Given the description of an element on the screen output the (x, y) to click on. 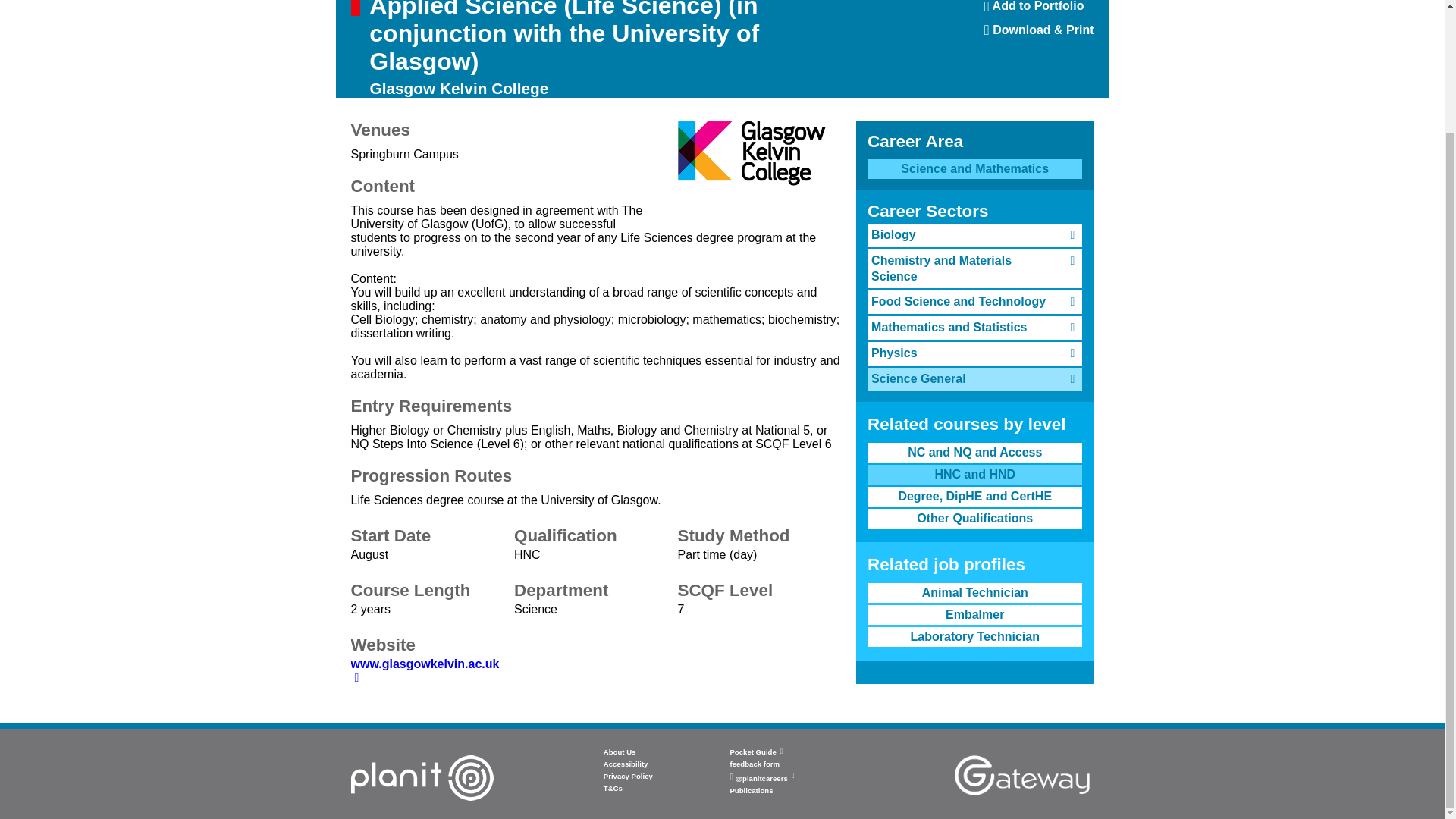
www.glasgowkelvin.ac.uk (424, 670)
Science and Mathematics (1039, 11)
